Given the description of an element on the screen output the (x, y) to click on. 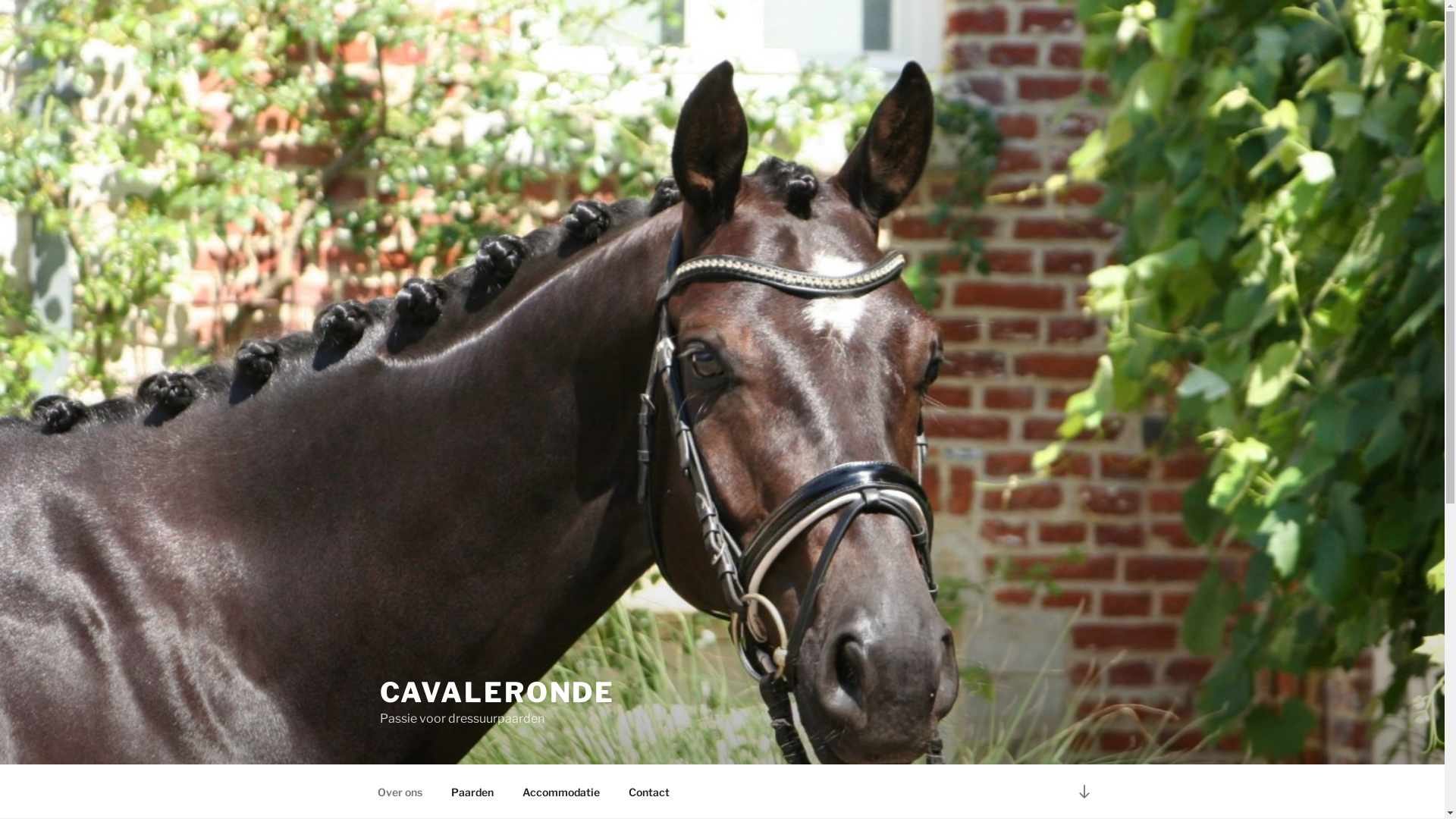
Accommodatie Element type: text (561, 791)
Over ons Element type: text (399, 791)
Contact Element type: text (649, 791)
CAVALERONDE Element type: text (497, 692)
Scroll omlaag naar de content Element type: text (1083, 790)
Paarden Element type: text (472, 791)
